Given the description of an element on the screen output the (x, y) to click on. 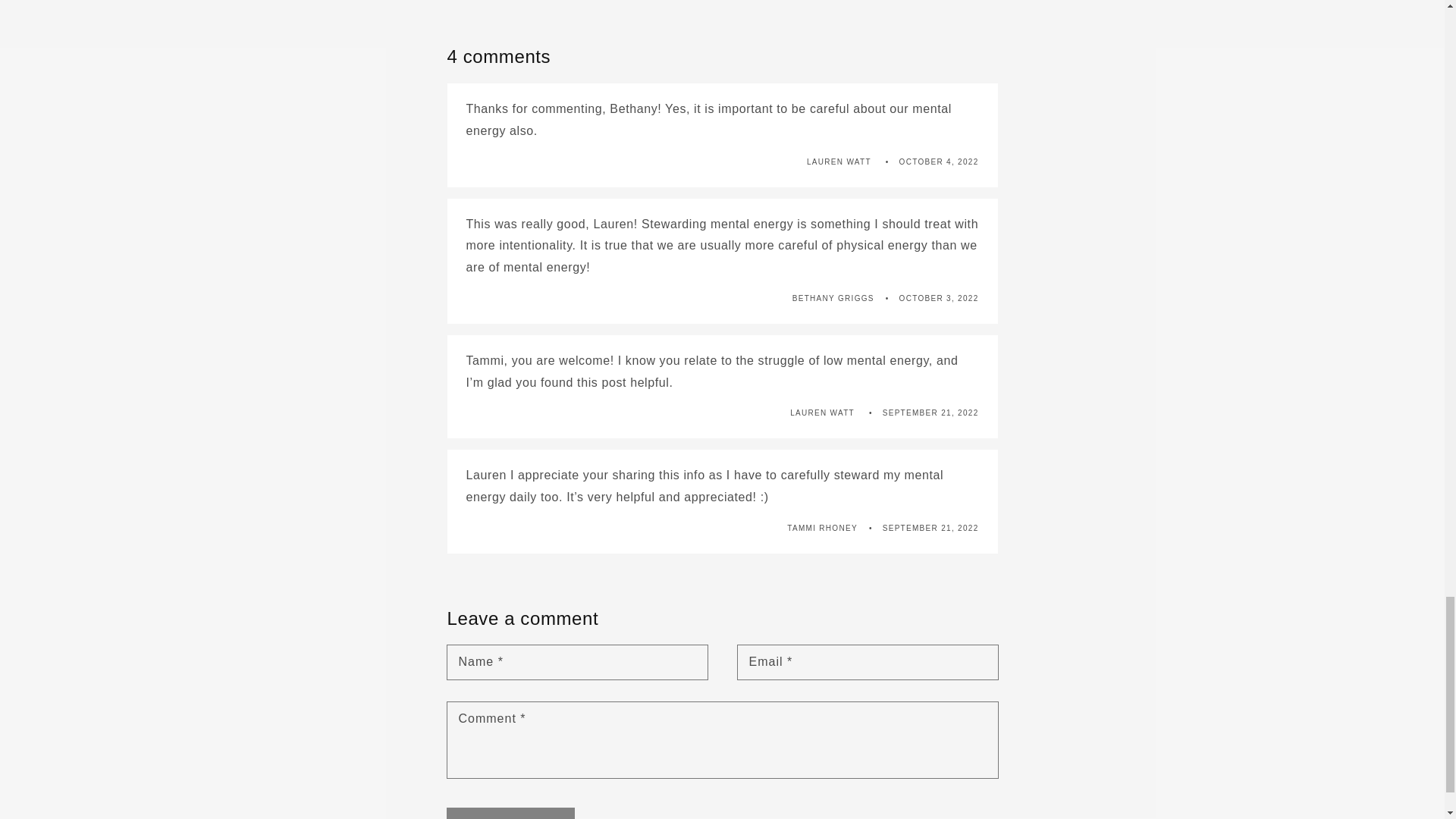
Post comment (510, 813)
Post comment (510, 813)
